Given the description of an element on the screen output the (x, y) to click on. 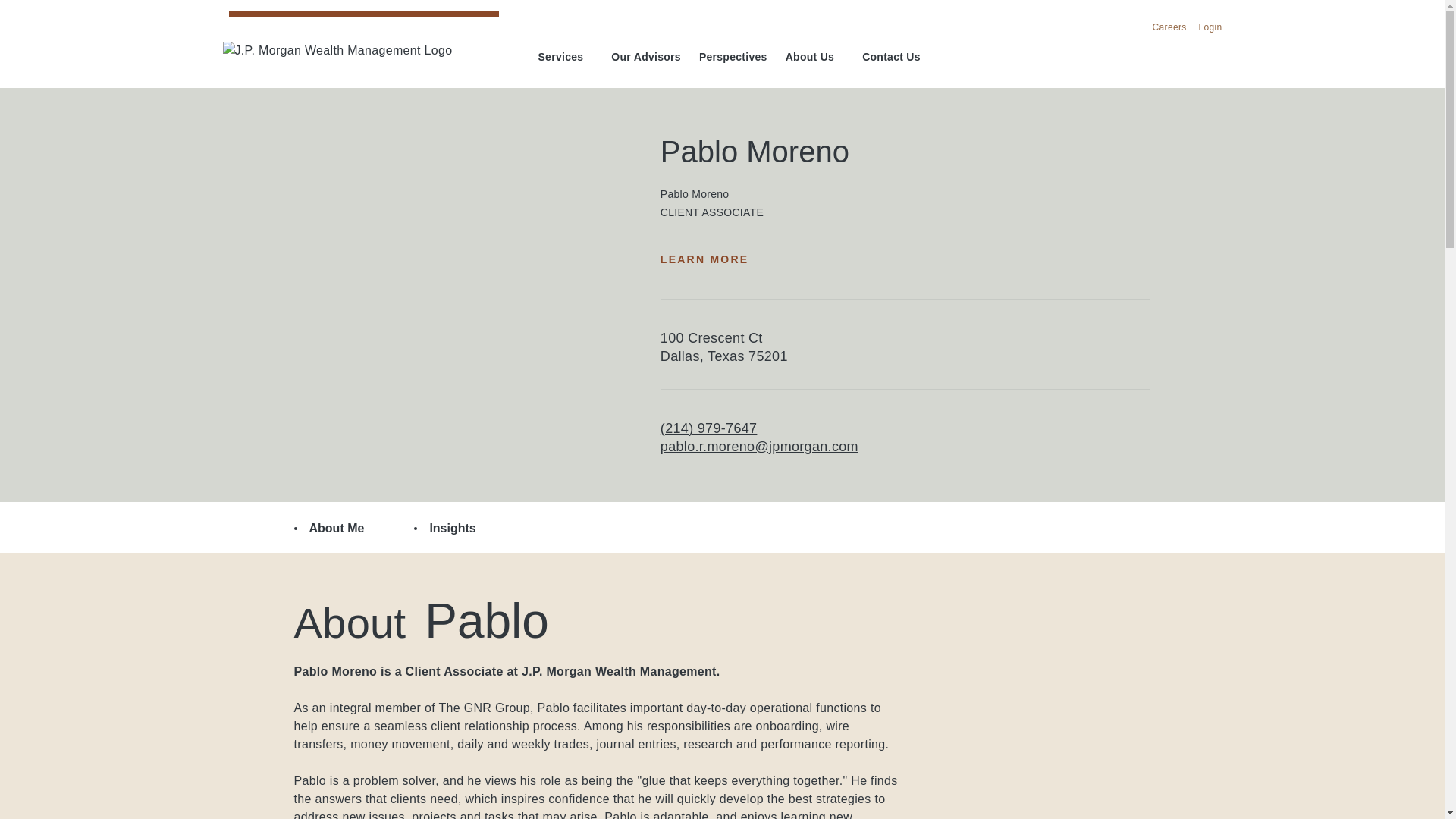
Contact Us (890, 57)
Perspectives (732, 57)
Our Advisors (646, 57)
Careers (1169, 28)
Login (1210, 28)
LEARN MORE (711, 259)
Services (724, 348)
Link to main website (566, 57)
About Us (361, 56)
